Given the description of an element on the screen output the (x, y) to click on. 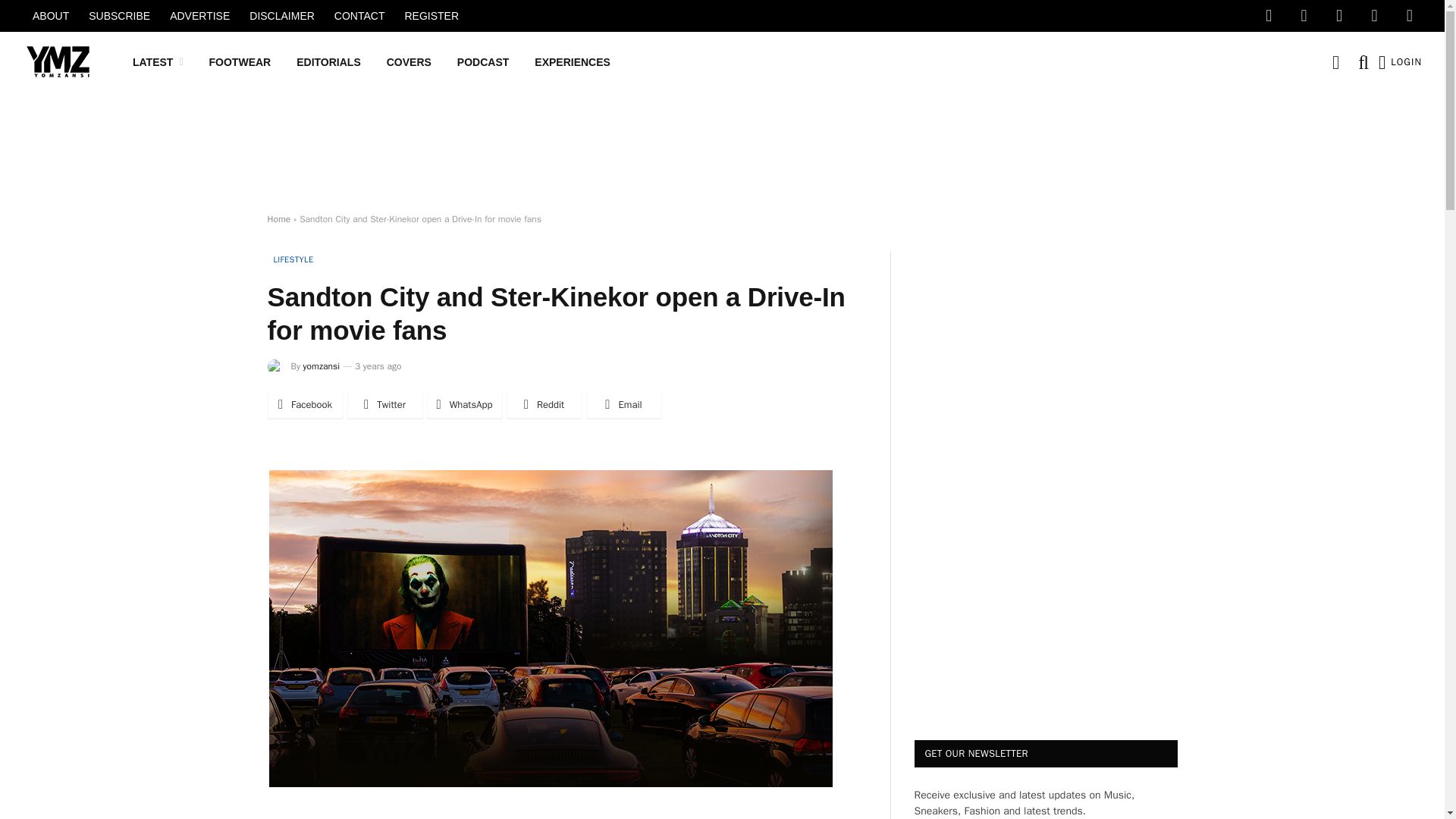
SUBSCRIBE (119, 15)
Posts by yomzansi (320, 366)
ABOUT (50, 15)
Share on Reddit (544, 404)
ADVERTISE (200, 15)
Share on Twitter (385, 404)
DISCLAIMER (282, 15)
LATEST (157, 61)
Switch to Dark Design - easier on eyes. (1335, 62)
CONTACT (359, 15)
